Given the description of an element on the screen output the (x, y) to click on. 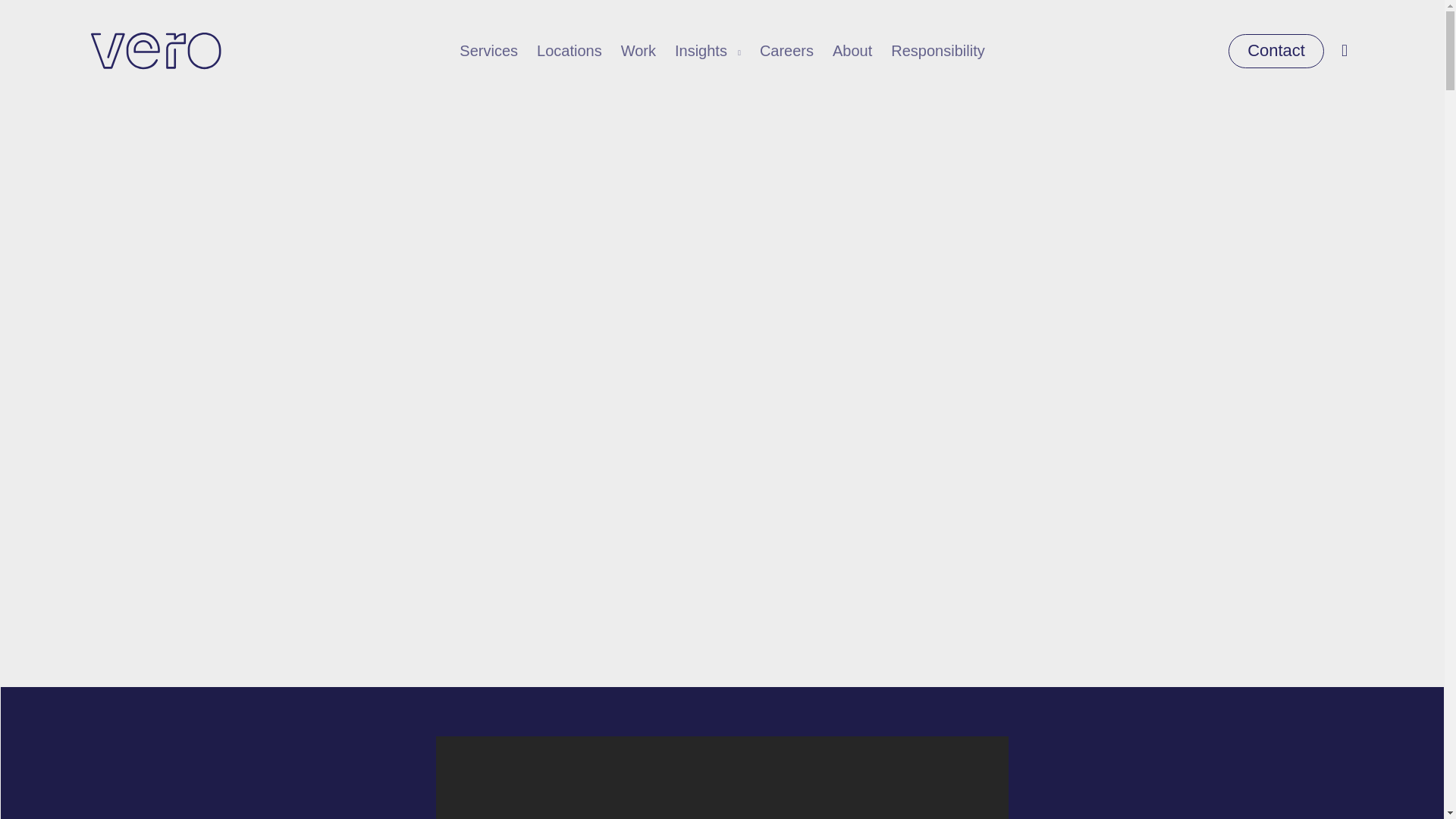
Contact (1275, 50)
Responsibility (937, 50)
Locations (569, 50)
Locations (569, 50)
Insights (708, 50)
Services (489, 50)
Work (638, 50)
Careers (786, 50)
About (852, 50)
About (852, 50)
Insights (708, 50)
Contact (1275, 50)
Careers (786, 50)
Vero (155, 50)
Services (489, 50)
